Given the description of an element on the screen output the (x, y) to click on. 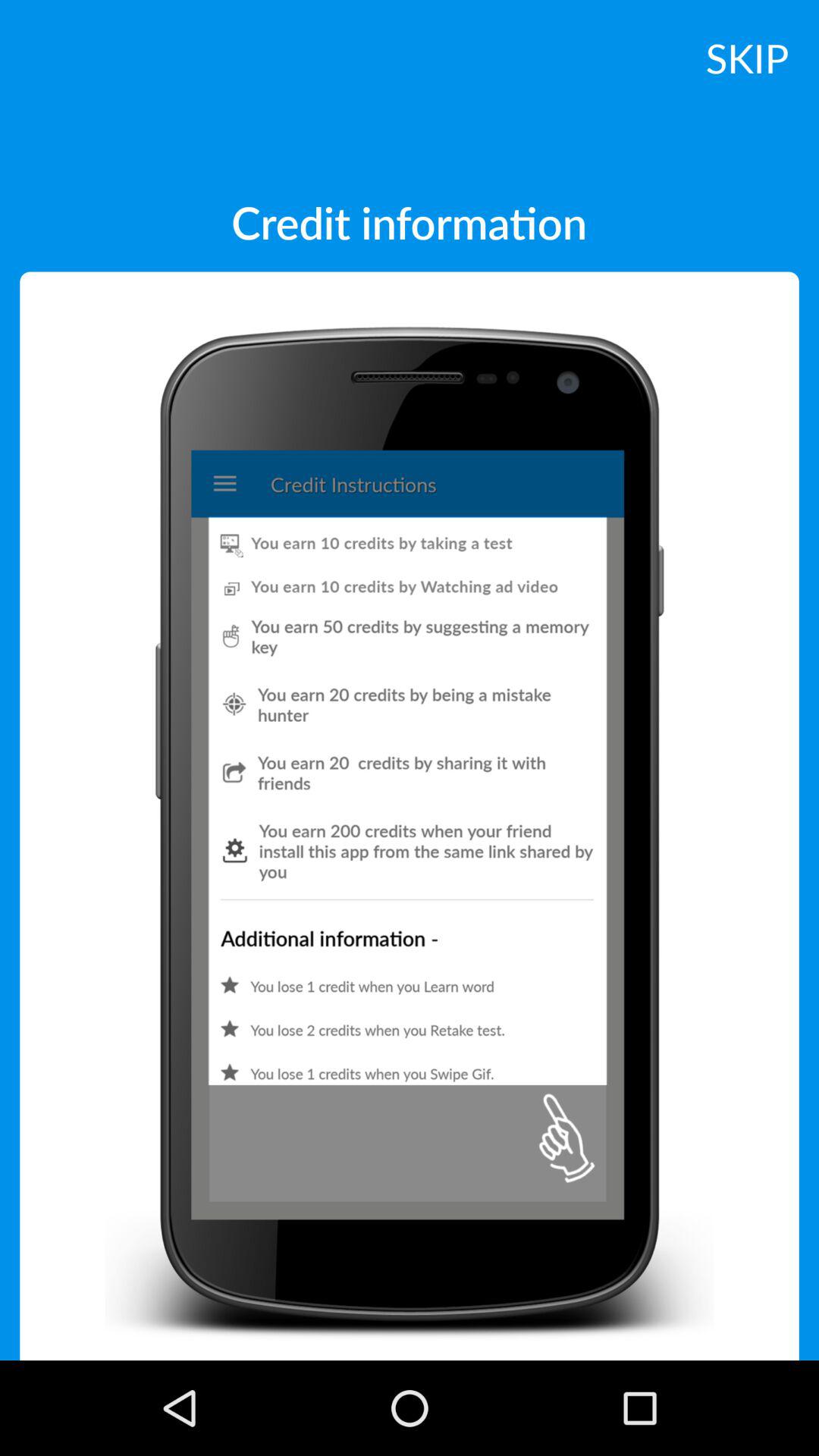
open the skip (747, 57)
